Given the description of an element on the screen output the (x, y) to click on. 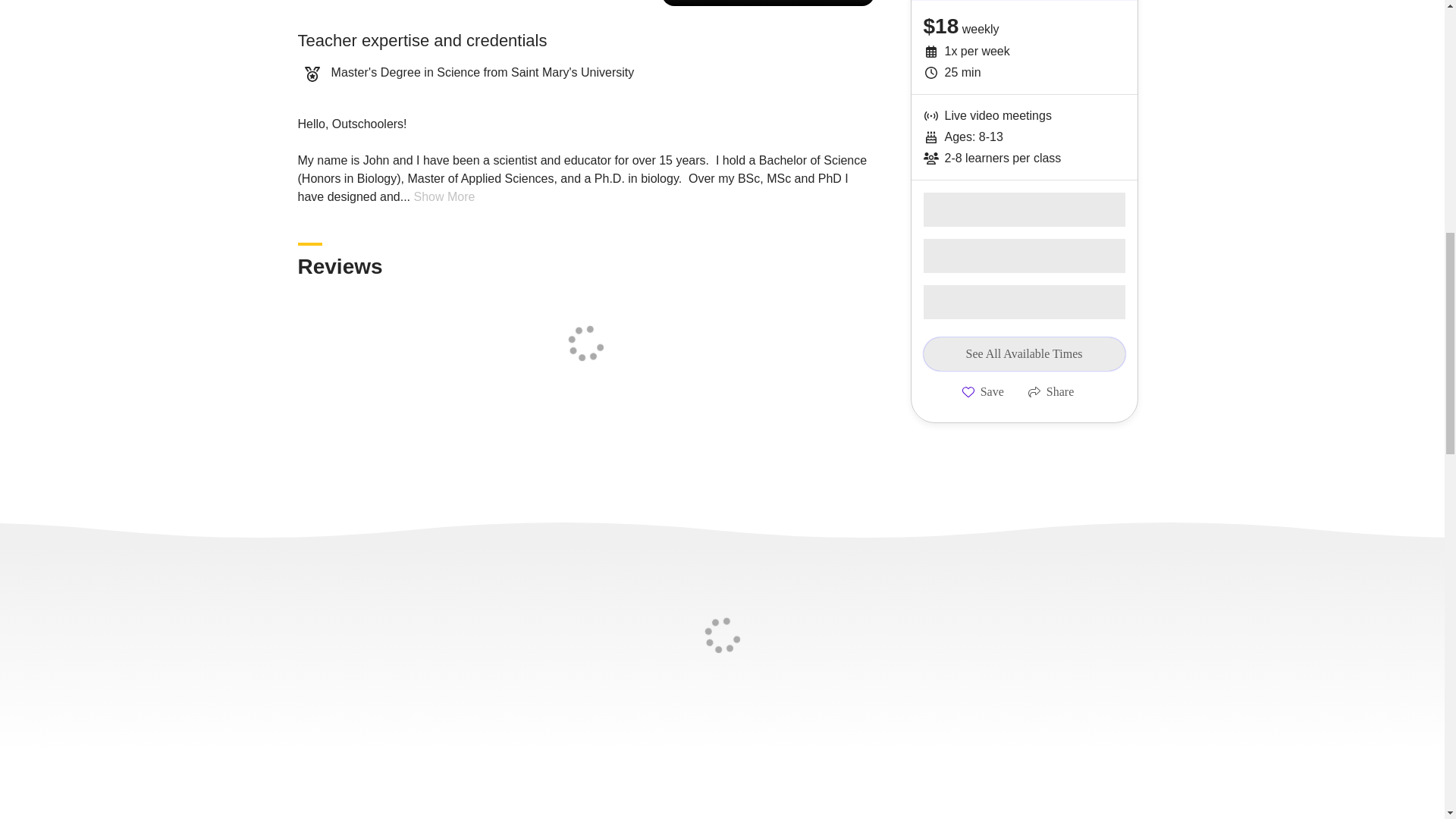
Show More (444, 196)
